Given the description of an element on the screen output the (x, y) to click on. 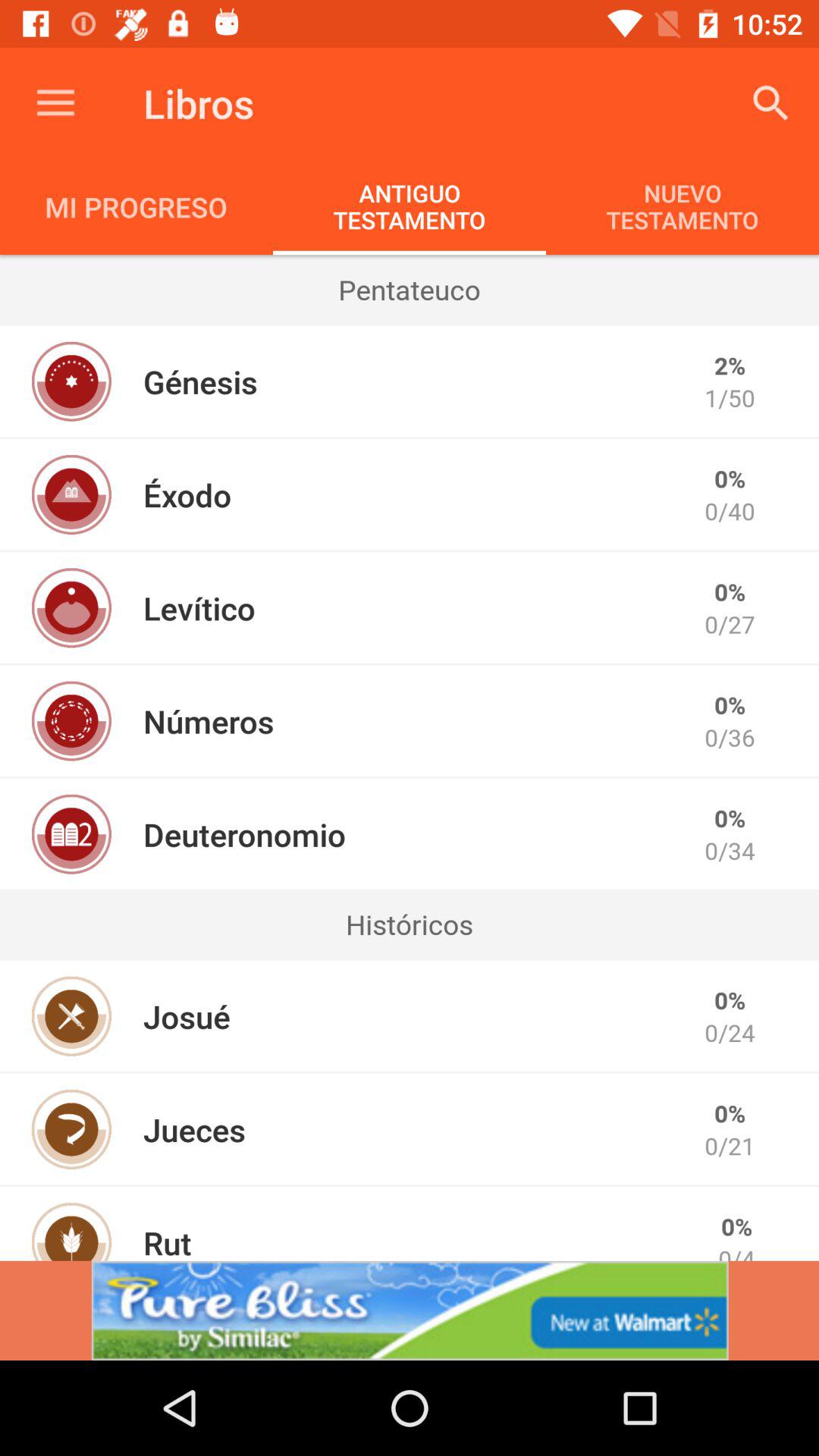
advertisement for pure bliss by similac (409, 1310)
